Given the description of an element on the screen output the (x, y) to click on. 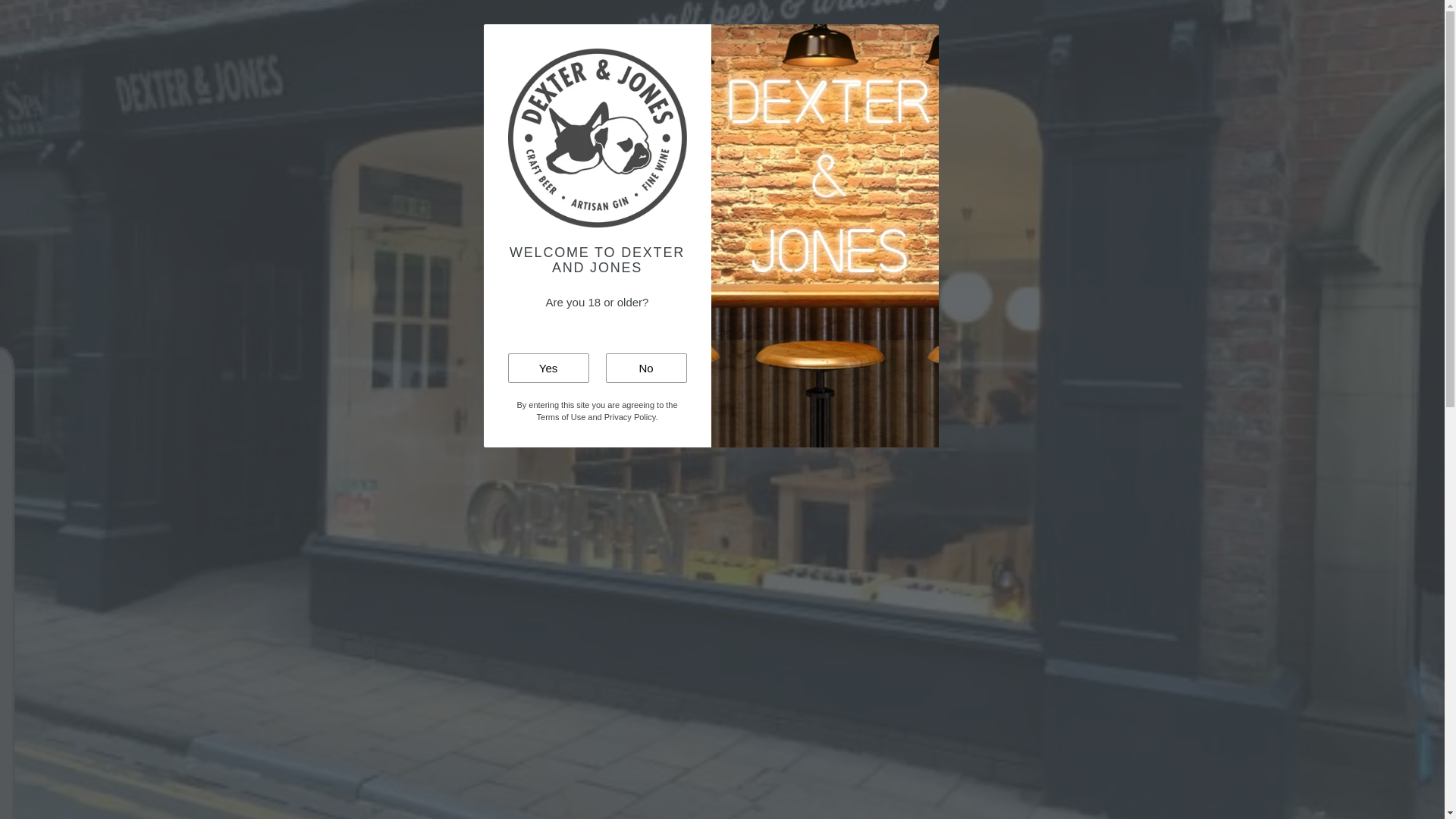
Yes (548, 367)
HOME (390, 42)
ABOUT (853, 42)
EVENTS (712, 42)
No (645, 367)
BREWERIES (1029, 42)
GIFTS (652, 42)
CONTACT (784, 42)
BEER (443, 42)
GIN (489, 42)
SPIRITS (591, 42)
SALE STUFF (930, 42)
WINE (534, 42)
1 (766, 325)
